Given the description of an element on the screen output the (x, y) to click on. 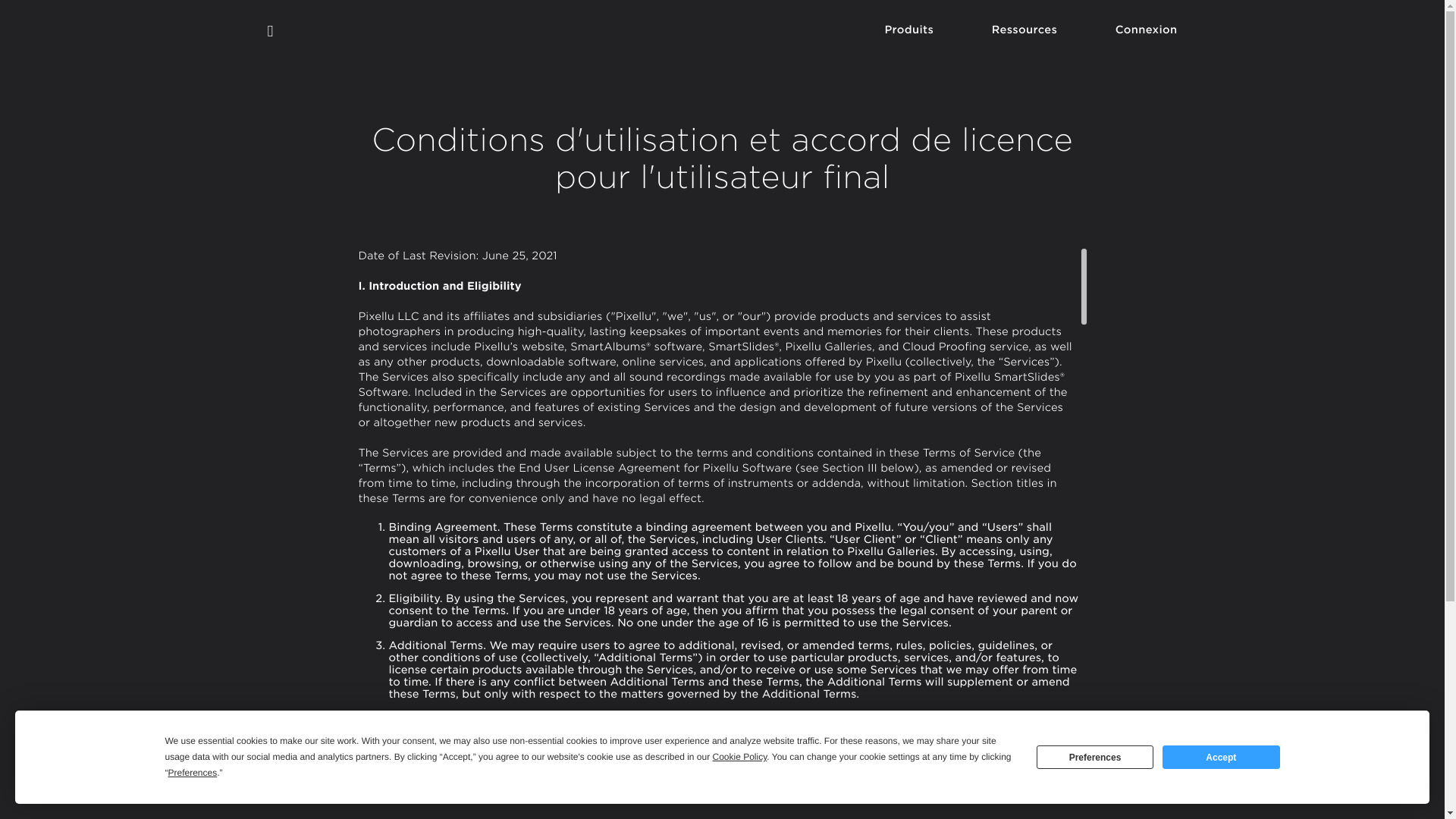
Accept (1220, 757)
Connexion (1140, 42)
Preferences (1094, 757)
